Given the description of an element on the screen output the (x, y) to click on. 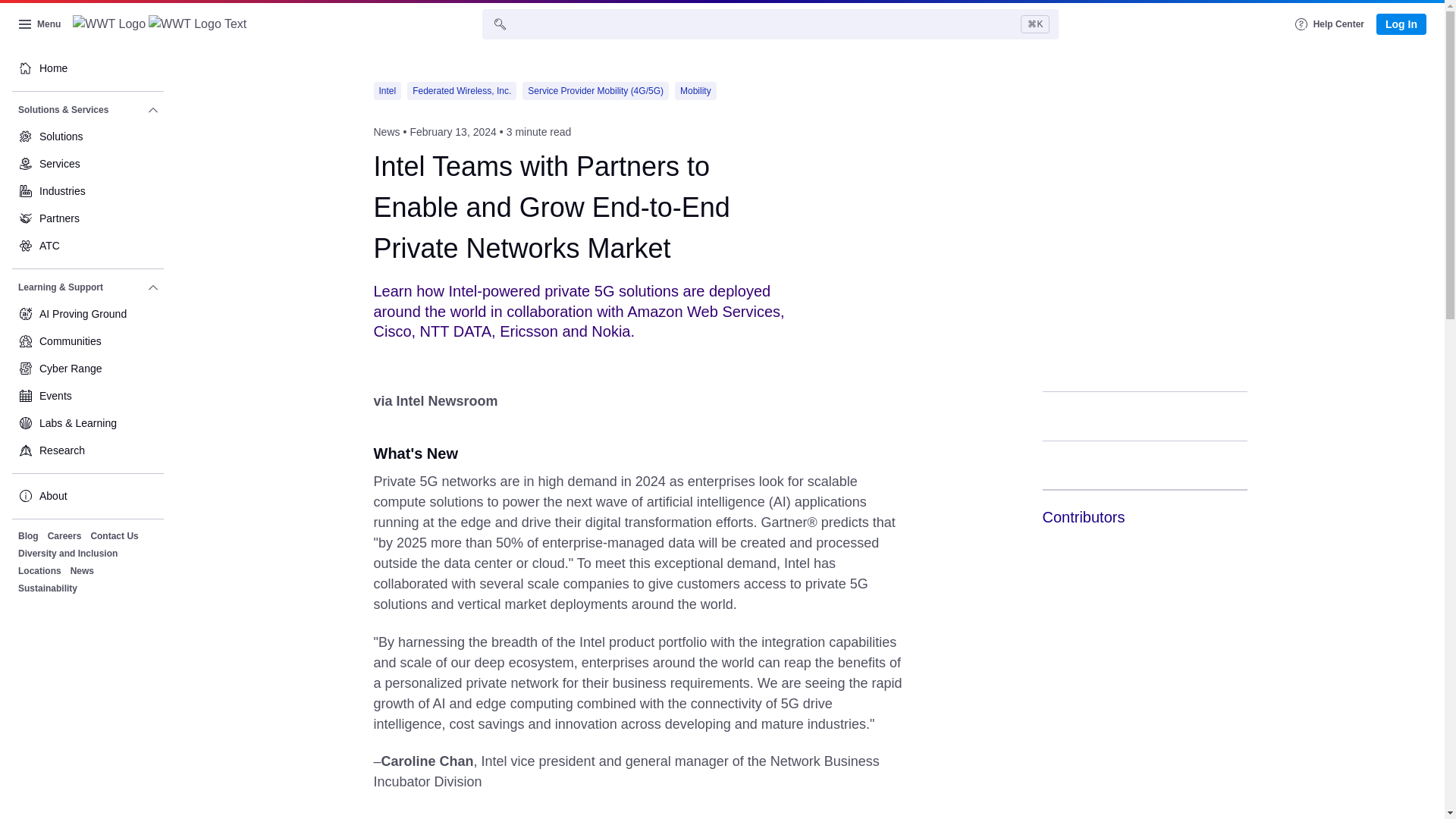
Log In (1400, 24)
Login to WWT (1400, 24)
Home (87, 67)
Help Center (1329, 24)
Close Menu (39, 24)
Menu (39, 24)
